Given the description of an element on the screen output the (x, y) to click on. 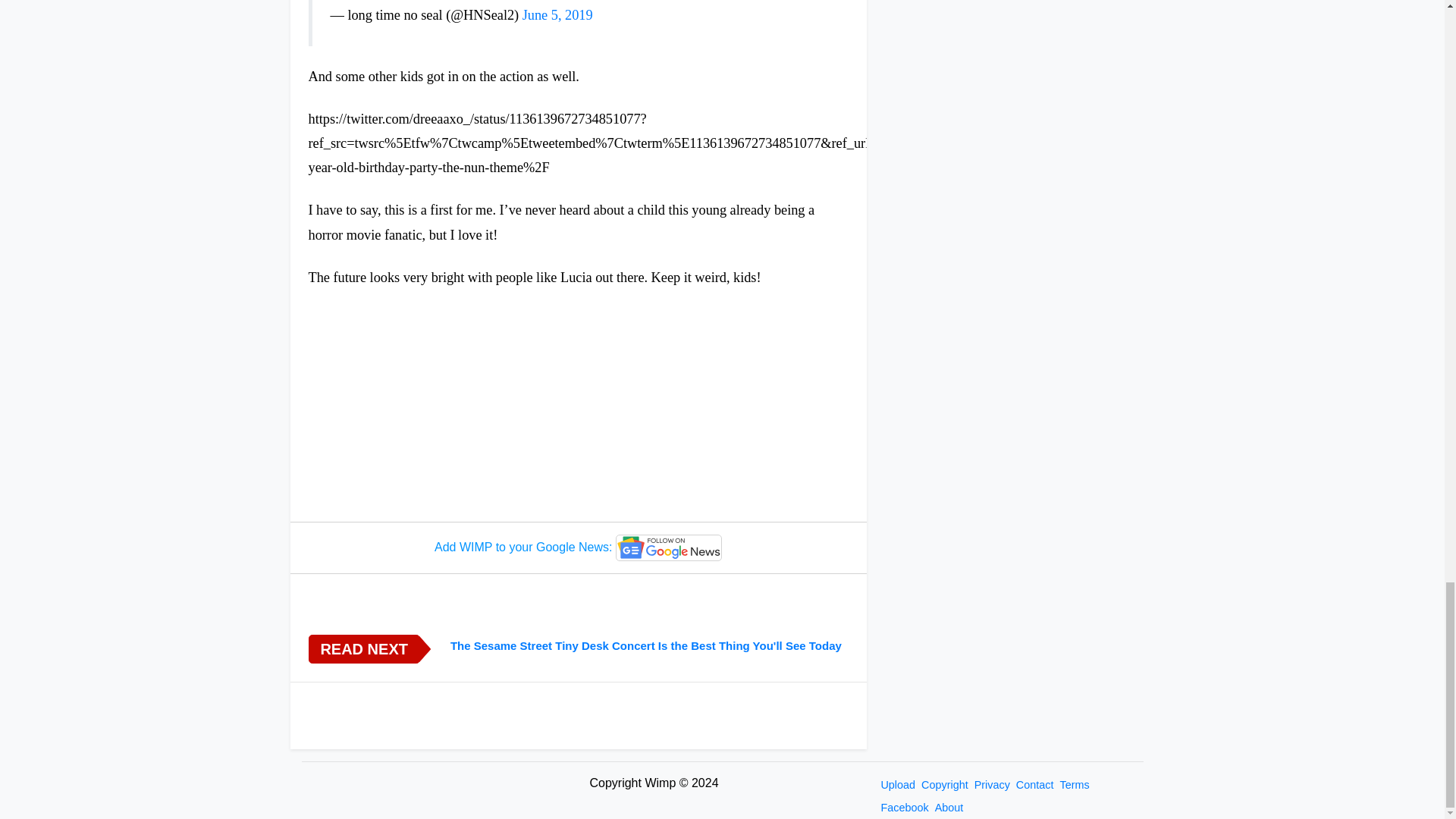
Add WIMP to your Google News: (577, 547)
Contact (1035, 784)
Google News (668, 547)
Upload (897, 784)
READ NEXT (363, 648)
June 5, 2019 (557, 14)
Privacy (992, 784)
Copyright (944, 784)
Terms (1074, 784)
